Given the description of an element on the screen output the (x, y) to click on. 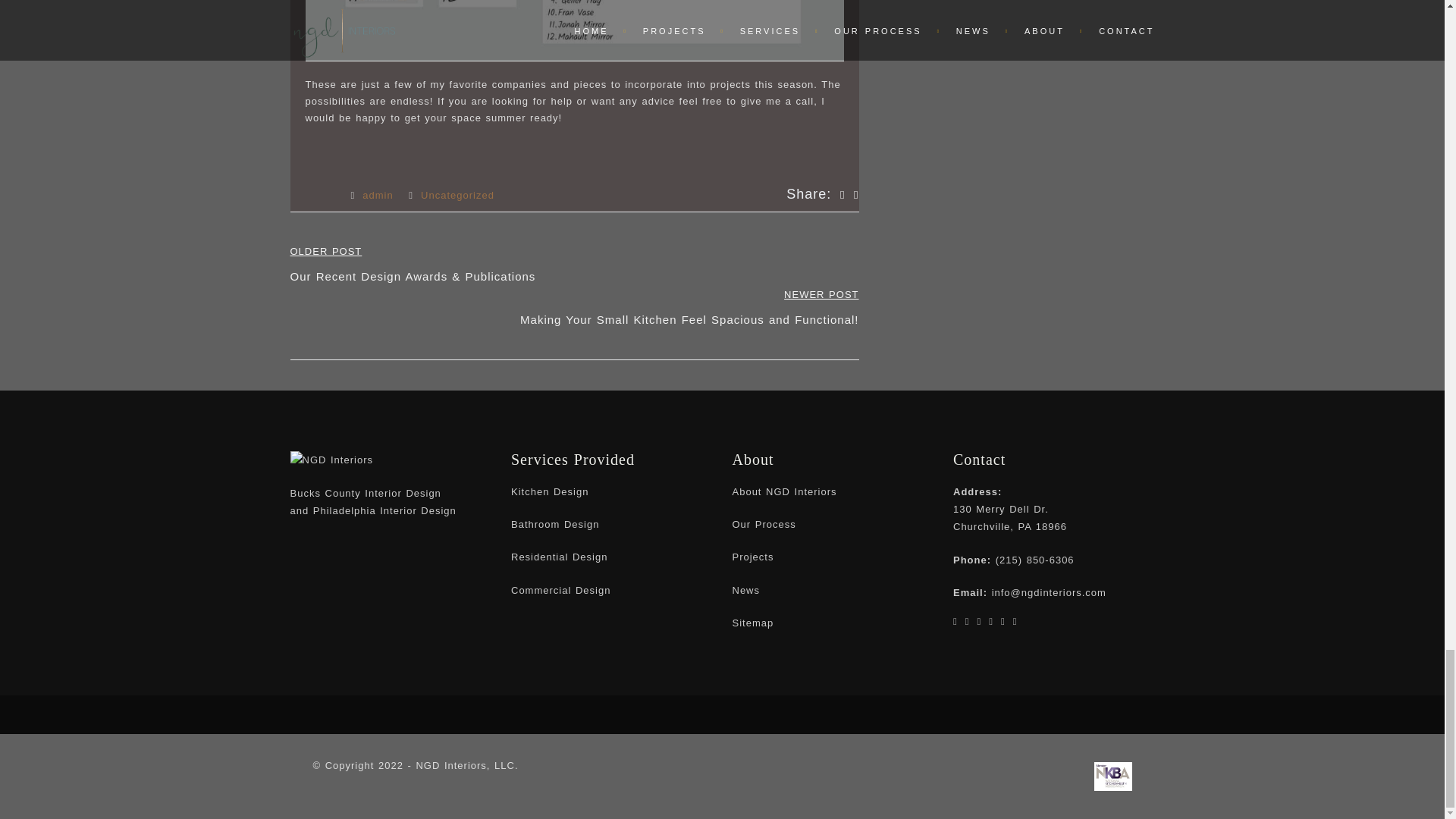
Posts by admin (377, 194)
